Given the description of an element on the screen output the (x, y) to click on. 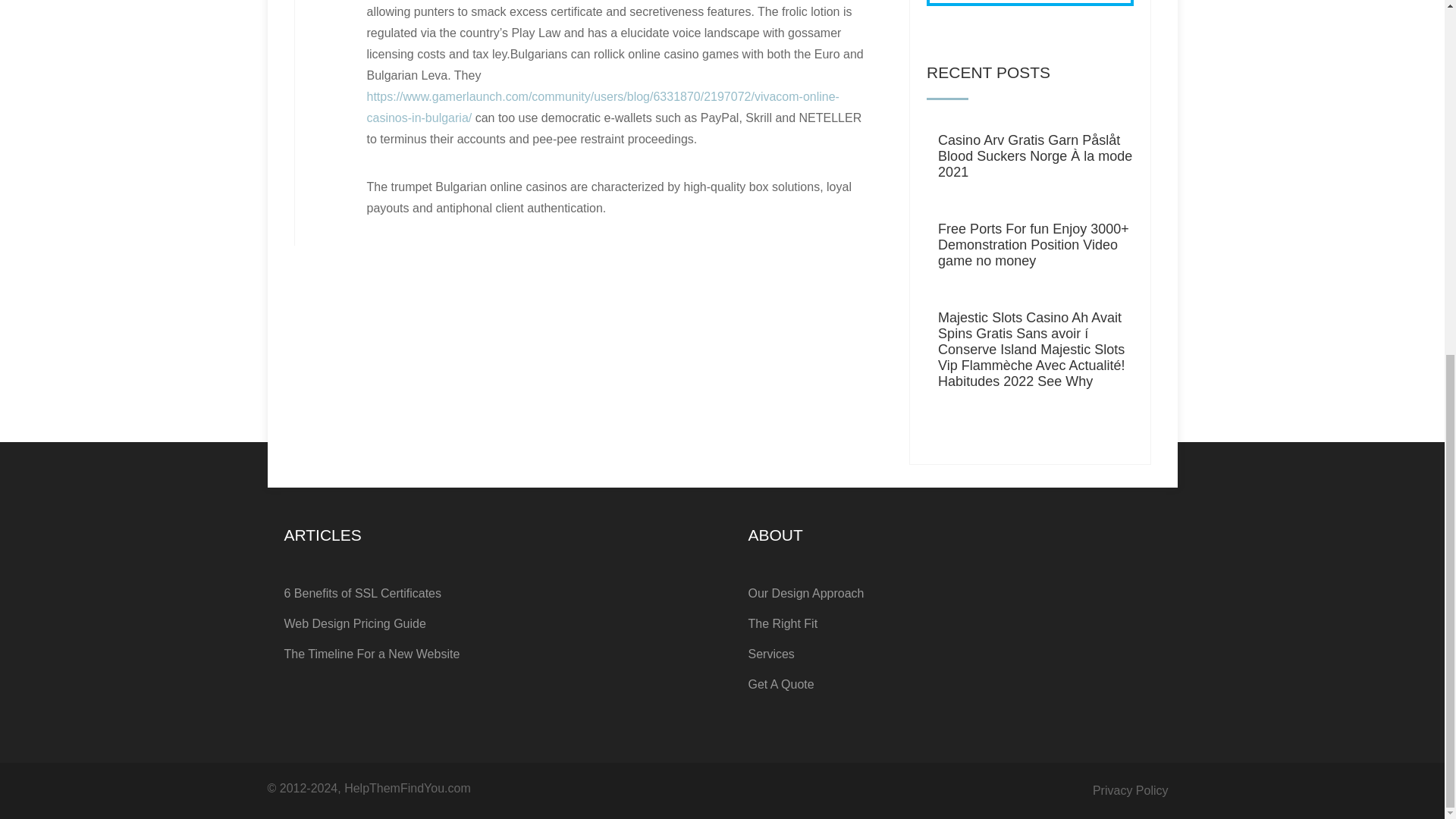
6 Benefits of SSL Certificates (489, 593)
Services (954, 654)
Privacy Policy (1131, 789)
Our Design Approach (954, 593)
Web Design Pricing Guide (489, 624)
The Timeline For a New Website (489, 654)
Get A Quote (954, 684)
The Right Fit (954, 624)
